Given the description of an element on the screen output the (x, y) to click on. 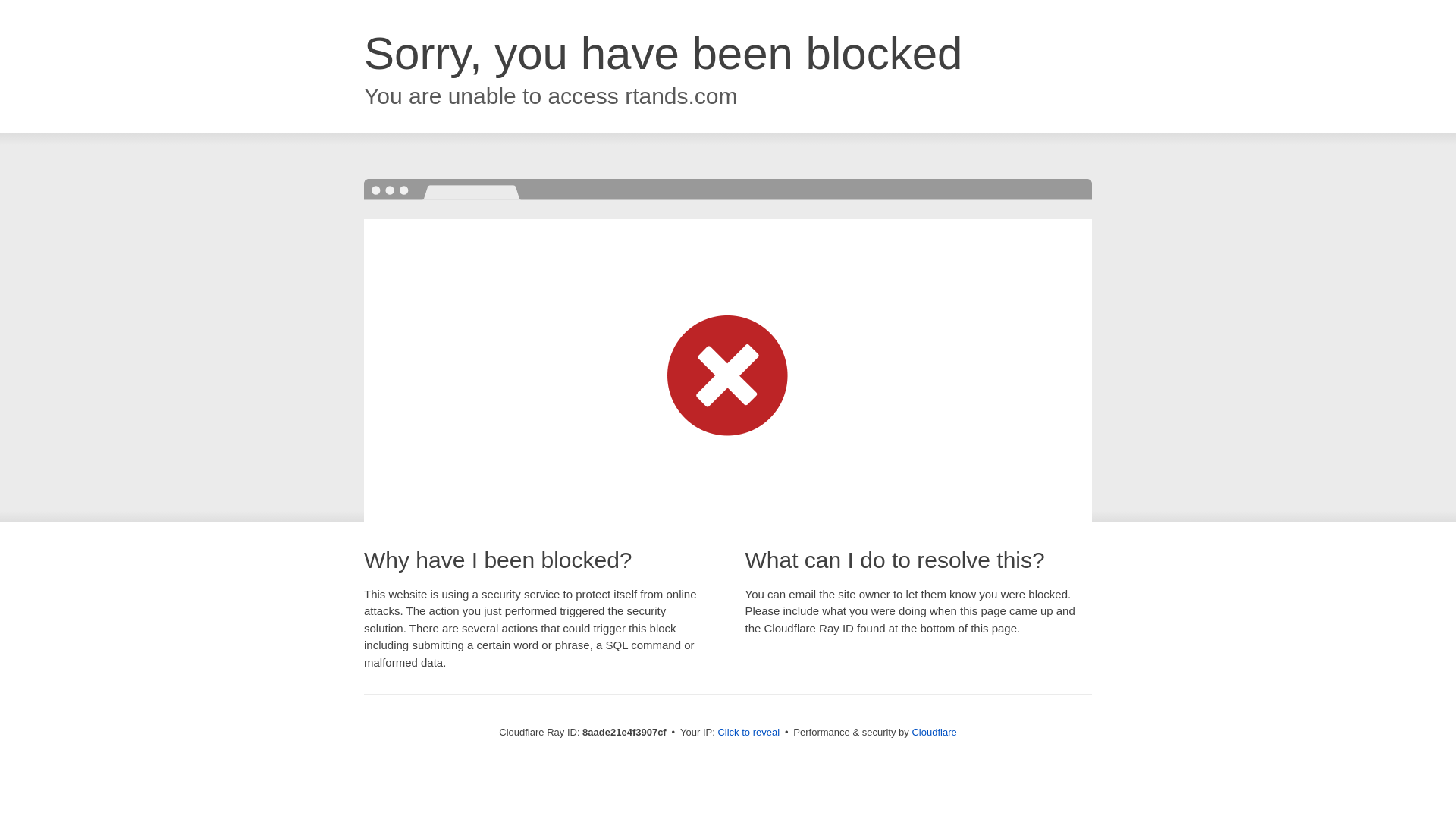
Cloudflare (933, 731)
Click to reveal (747, 732)
